Given the description of an element on the screen output the (x, y) to click on. 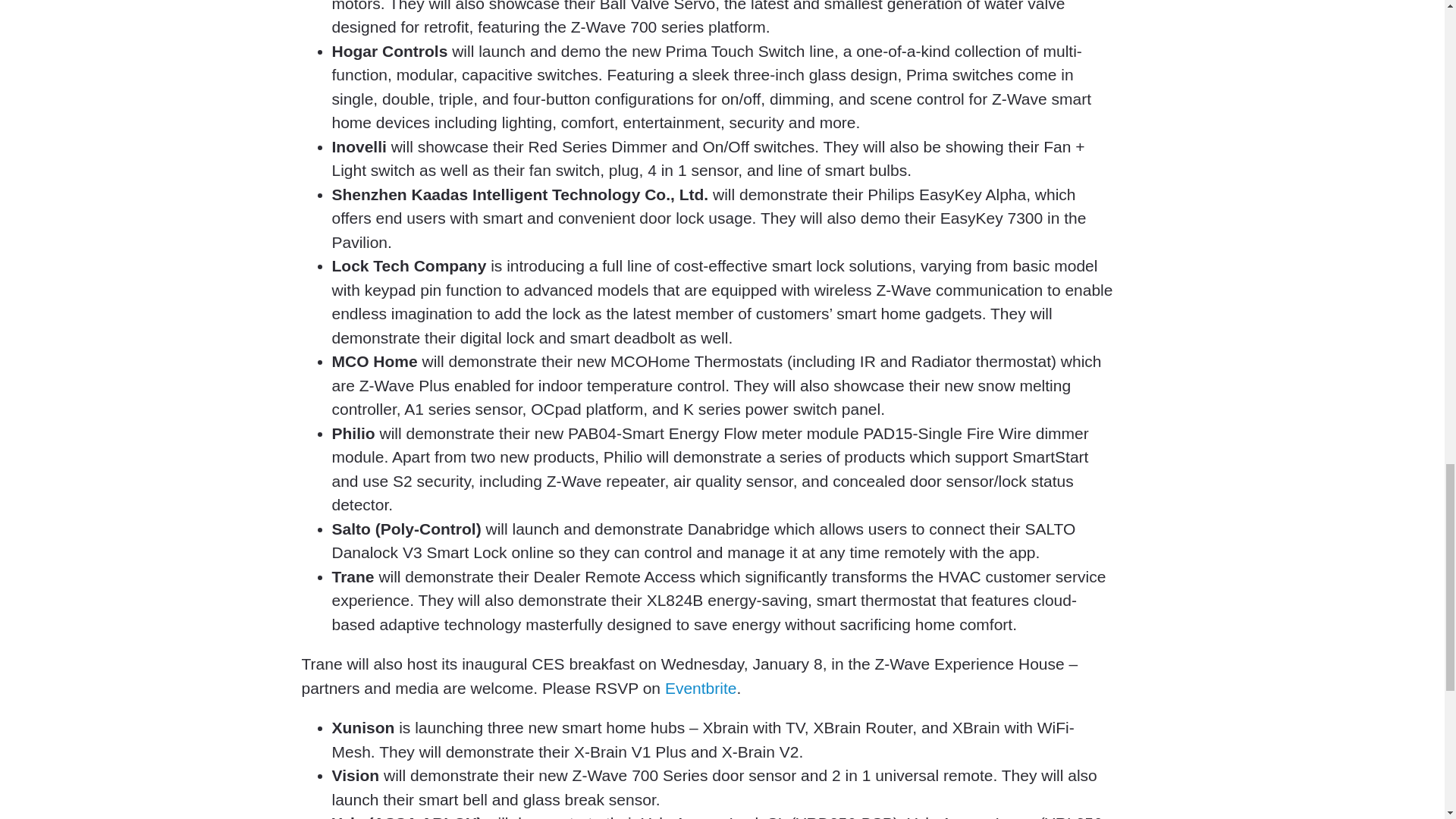
Eventbrite (700, 687)
